Given the description of an element on the screen output the (x, y) to click on. 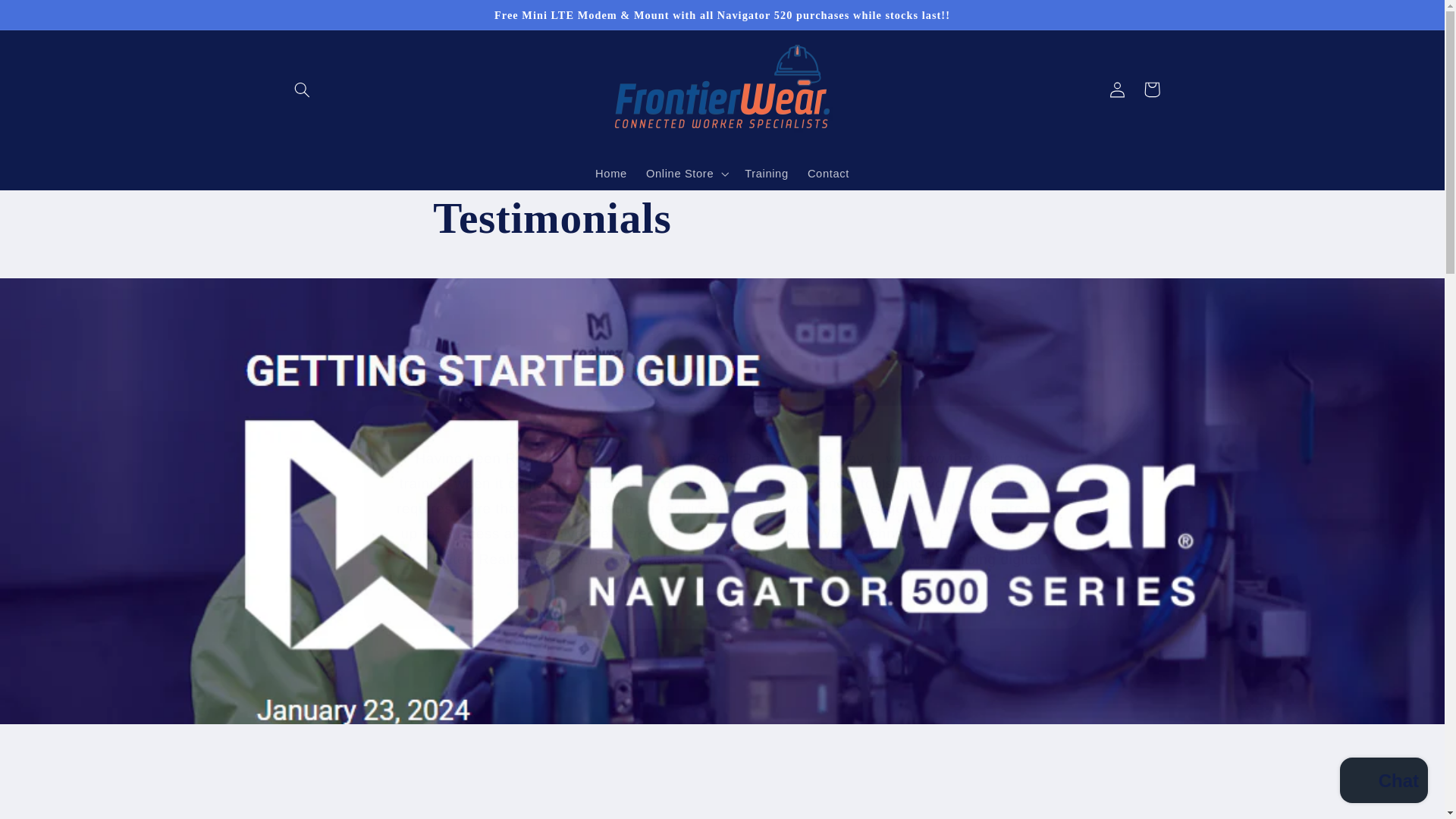
Cart (1151, 89)
Shopify online store chat (1383, 781)
Testimonials (721, 218)
Log in (1116, 89)
Training (766, 173)
Home (610, 173)
Skip to content (48, 18)
Contact (828, 173)
